Given the description of an element on the screen output the (x, y) to click on. 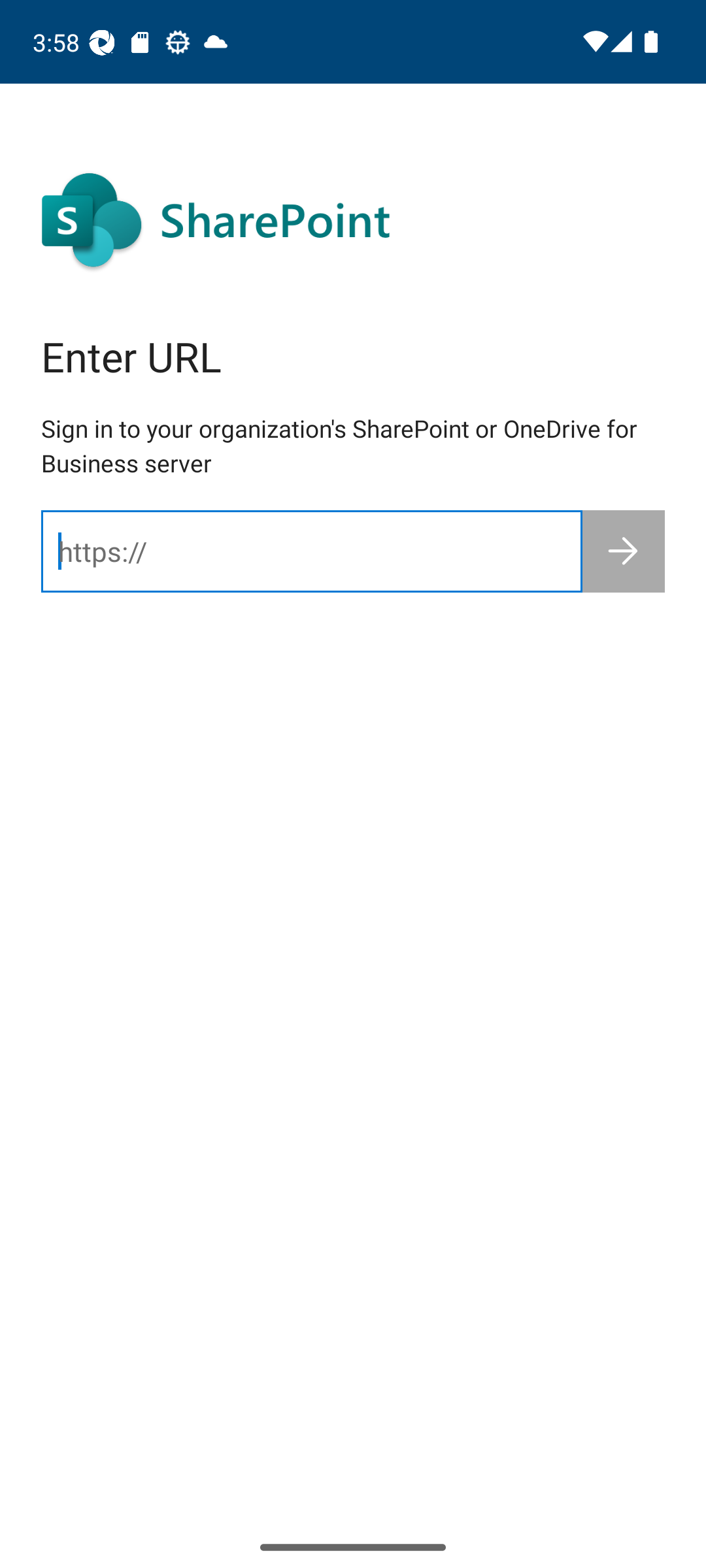
https:// (311, 550)
Next (623, 550)
